Given the description of an element on the screen output the (x, y) to click on. 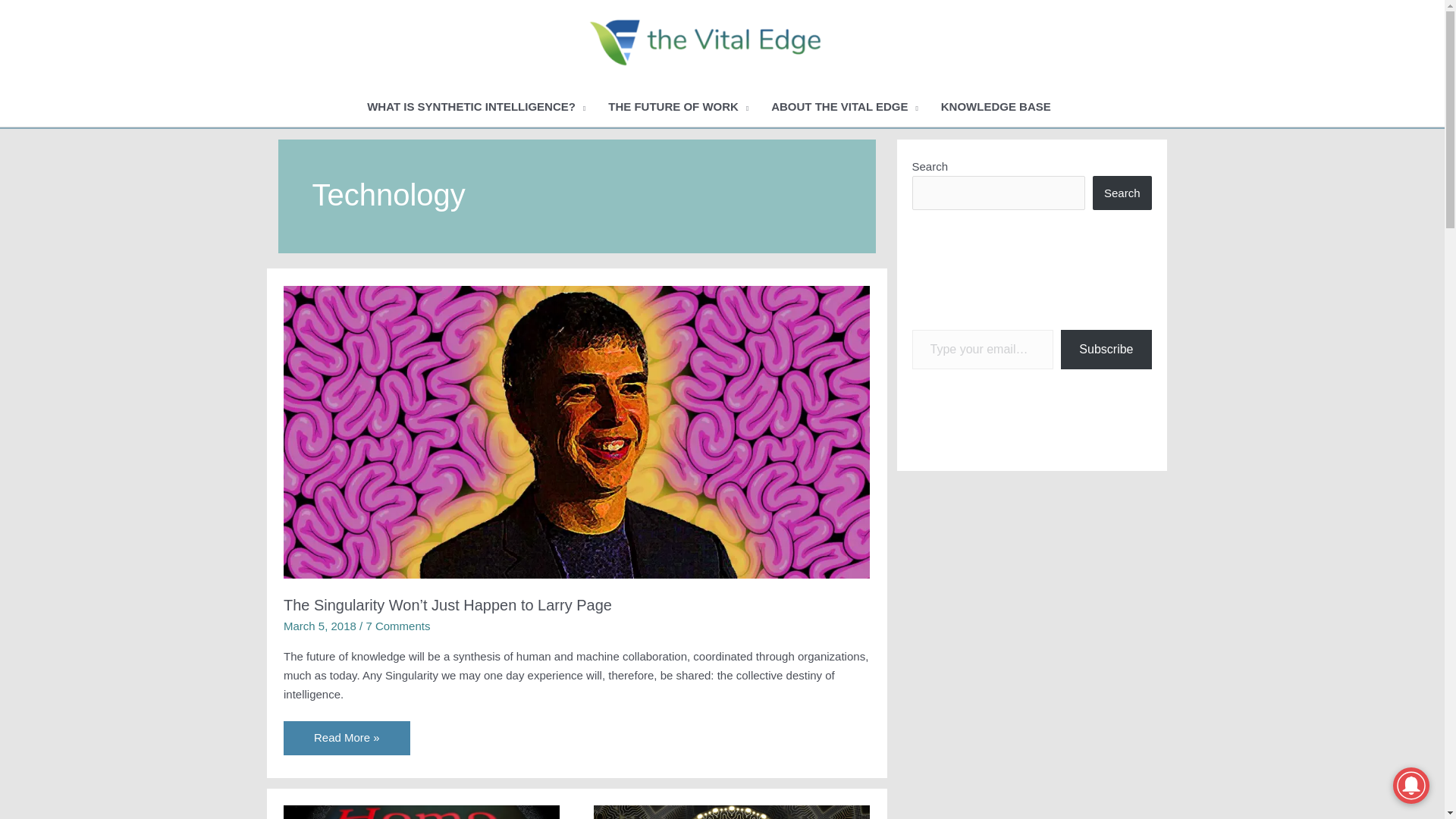
ABOUT THE VITAL EDGE (845, 106)
Please fill in this field. (981, 350)
KNOWLEDGE BASE (996, 106)
7 Comments (397, 625)
WHAT IS SYNTHETIC INTELLIGENCE? (475, 106)
THE FUTURE OF WORK (678, 106)
